Given the description of an element on the screen output the (x, y) to click on. 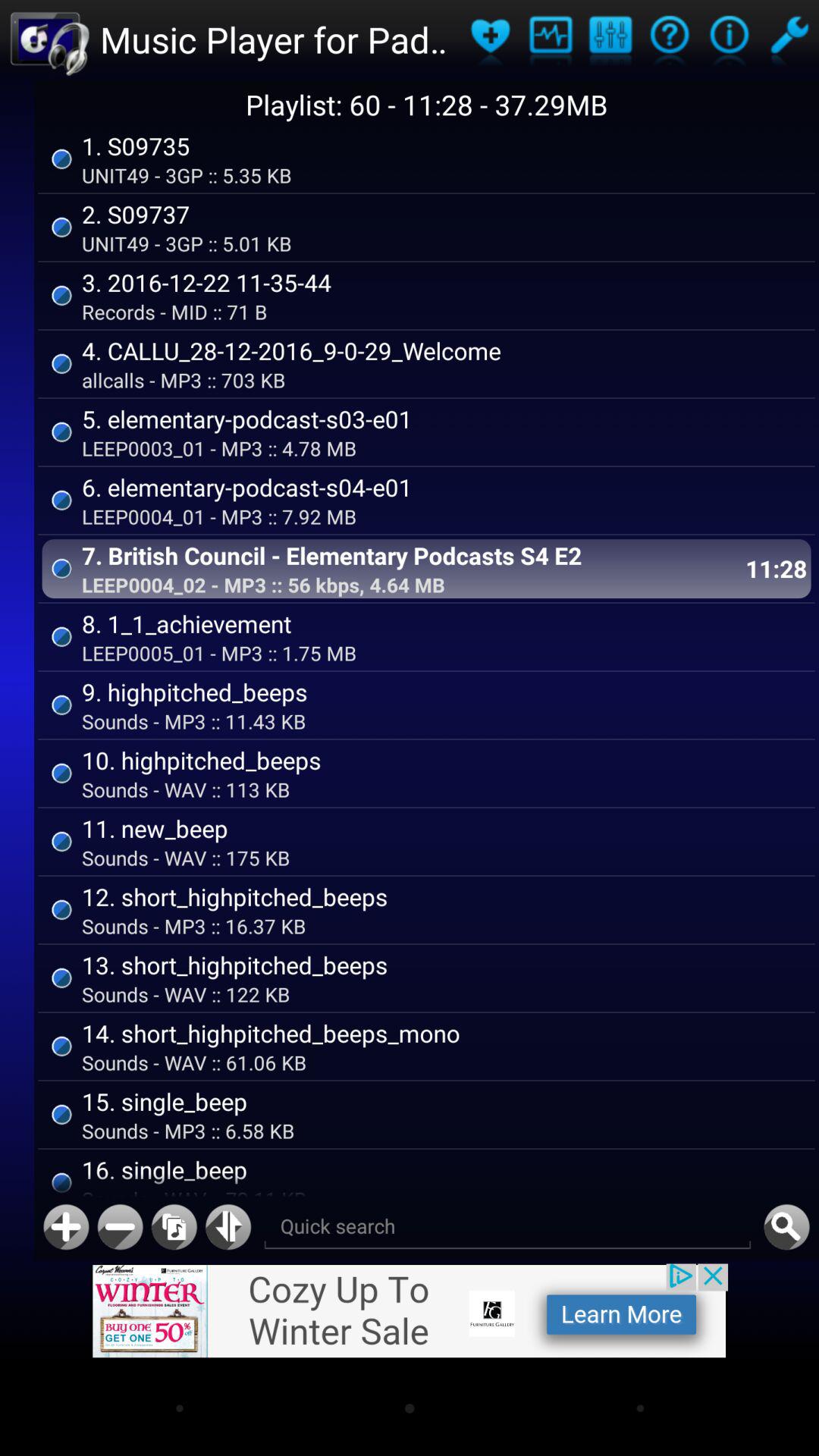
go to search (507, 1226)
